Given the description of an element on the screen output the (x, y) to click on. 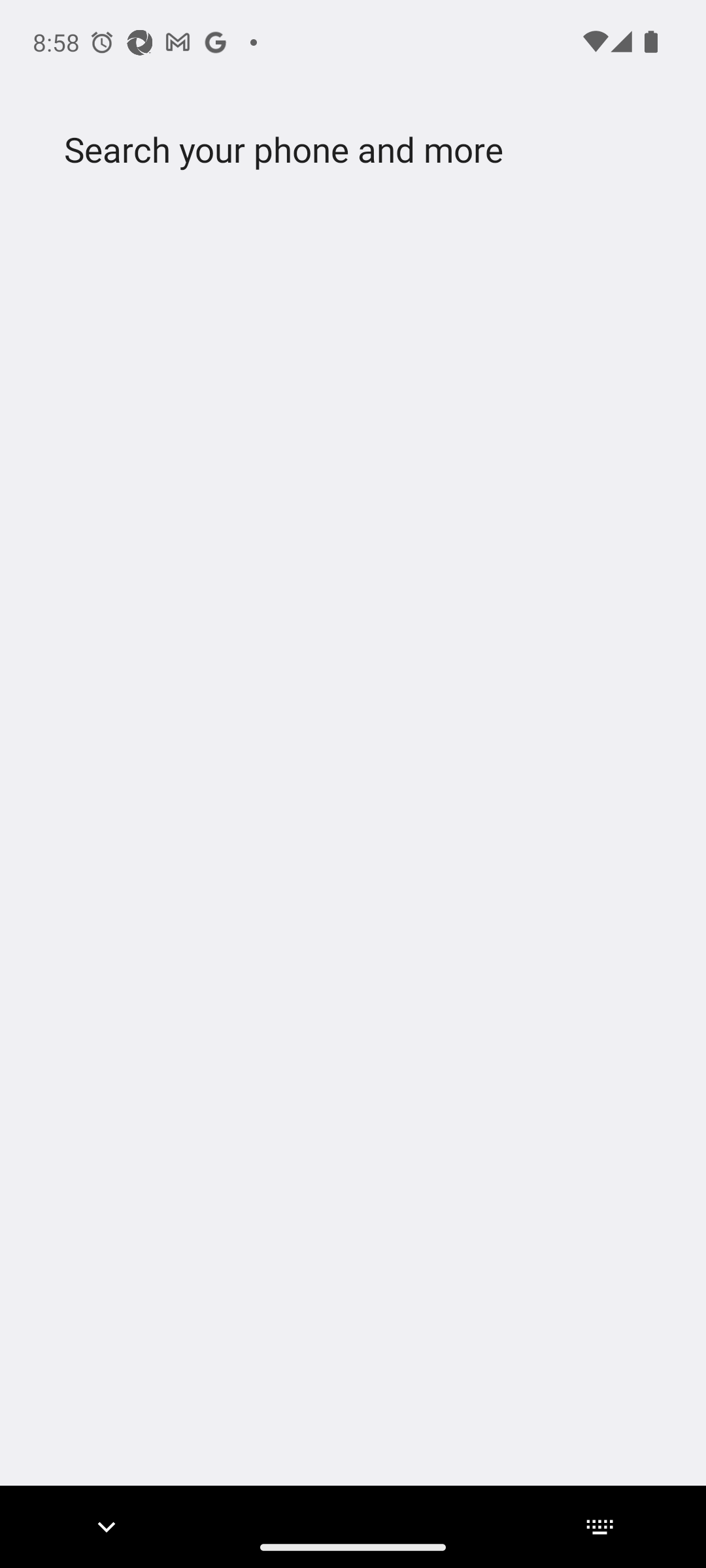
Search your phone and more (321, 149)
